Given the description of an element on the screen output the (x, y) to click on. 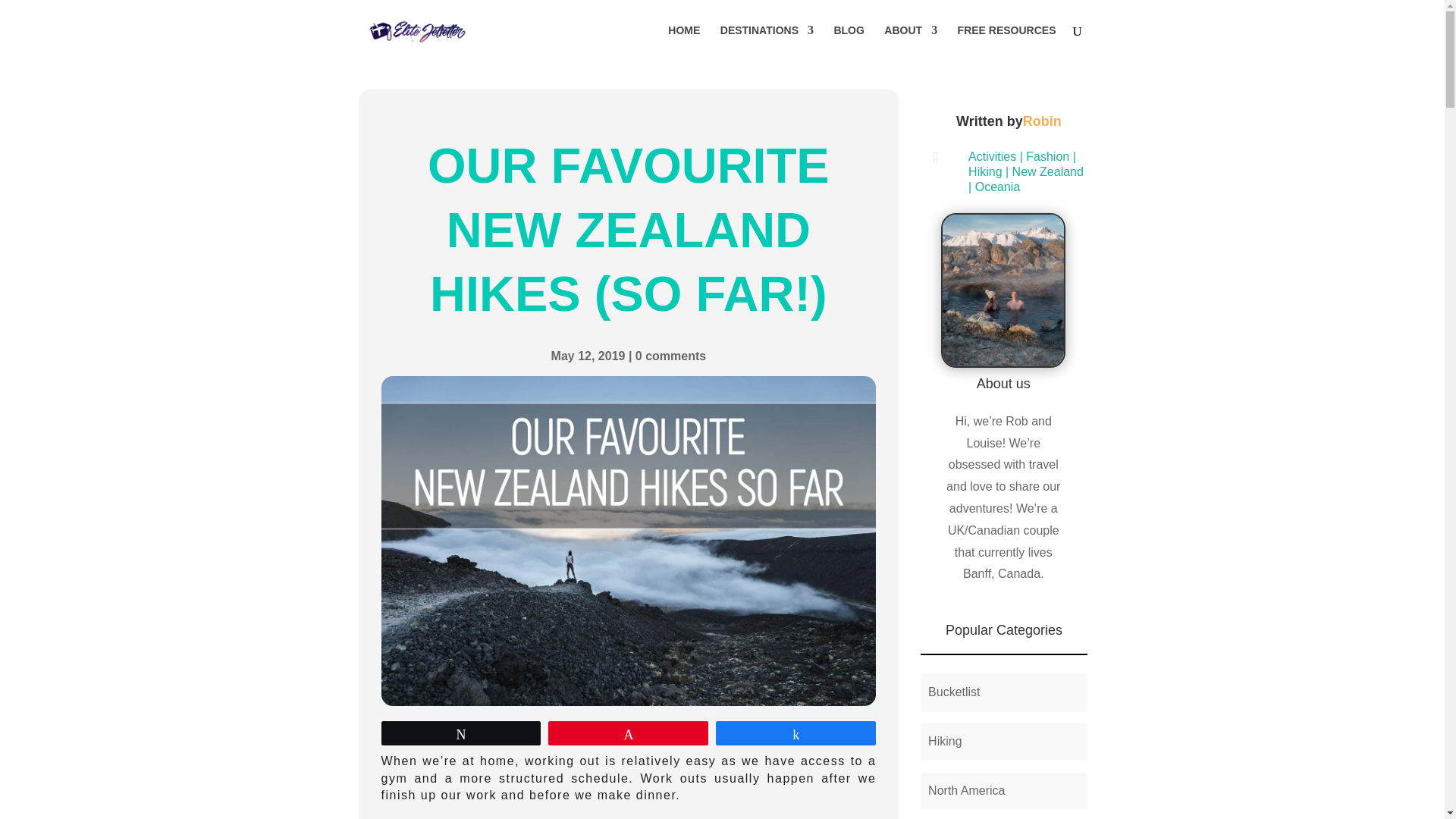
DESTINATIONS (766, 42)
HOME (684, 42)
